Given the description of an element on the screen output the (x, y) to click on. 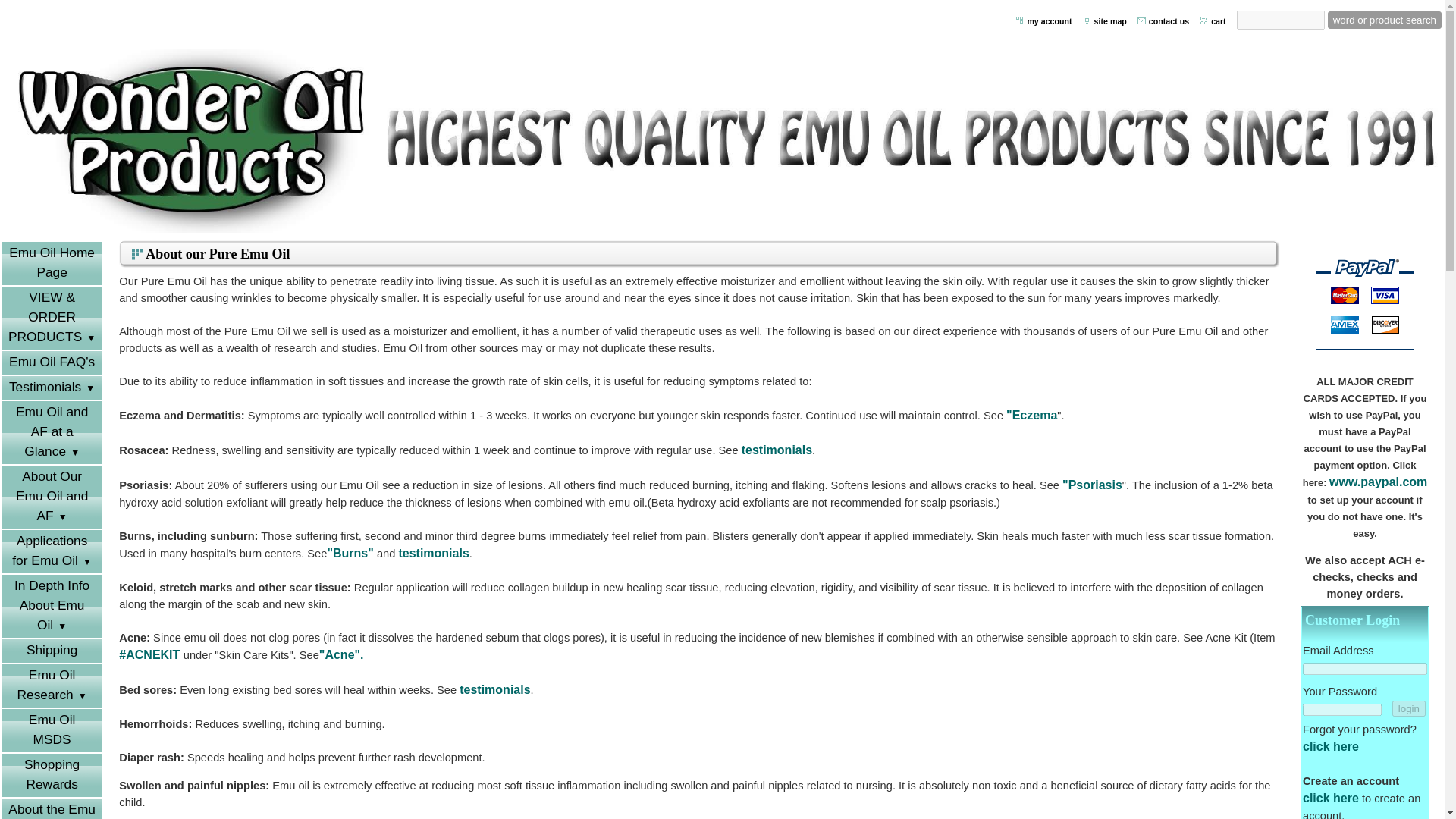
Emu Oil Home Page (51, 263)
word or product search (1384, 19)
word or product search (1384, 19)
Emu Oil FAQ's (51, 362)
About the Emu (51, 808)
ATM Machines (1364, 304)
Shopping Rewards (51, 774)
my account (1049, 21)
Emu Oil MSDS (51, 730)
Applications for Emu Oil (51, 551)
